Given the description of an element on the screen output the (x, y) to click on. 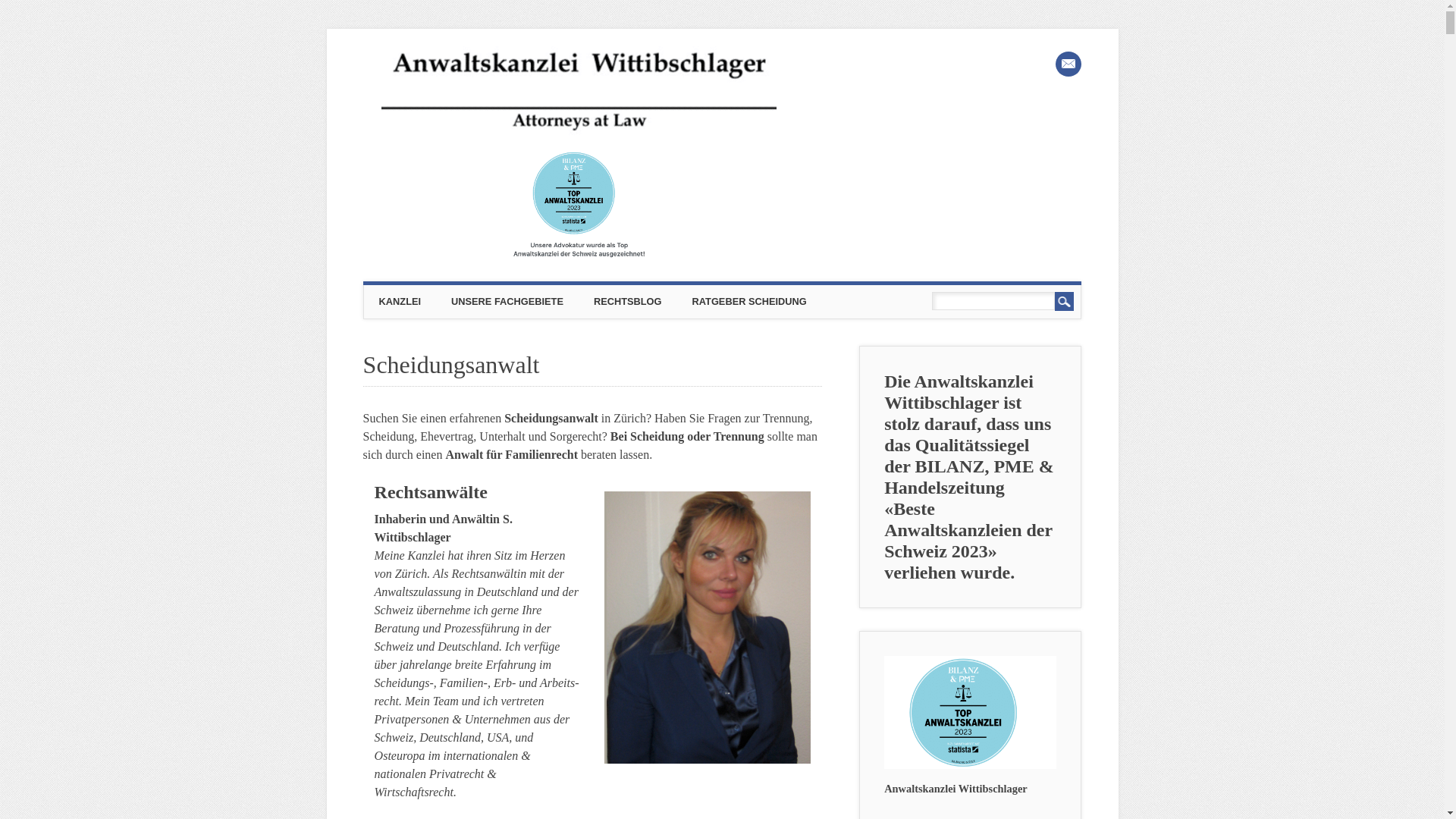
RECHTSBLOG Element type: text (627, 301)
KANZLEI Element type: text (400, 301)
RATGEBER SCHEIDUNG Element type: text (749, 301)
UNSERE FACHGEBIETE Element type: text (507, 301)
Suche Element type: text (1063, 300)
Email Element type: text (1068, 63)
